Given the description of an element on the screen output the (x, y) to click on. 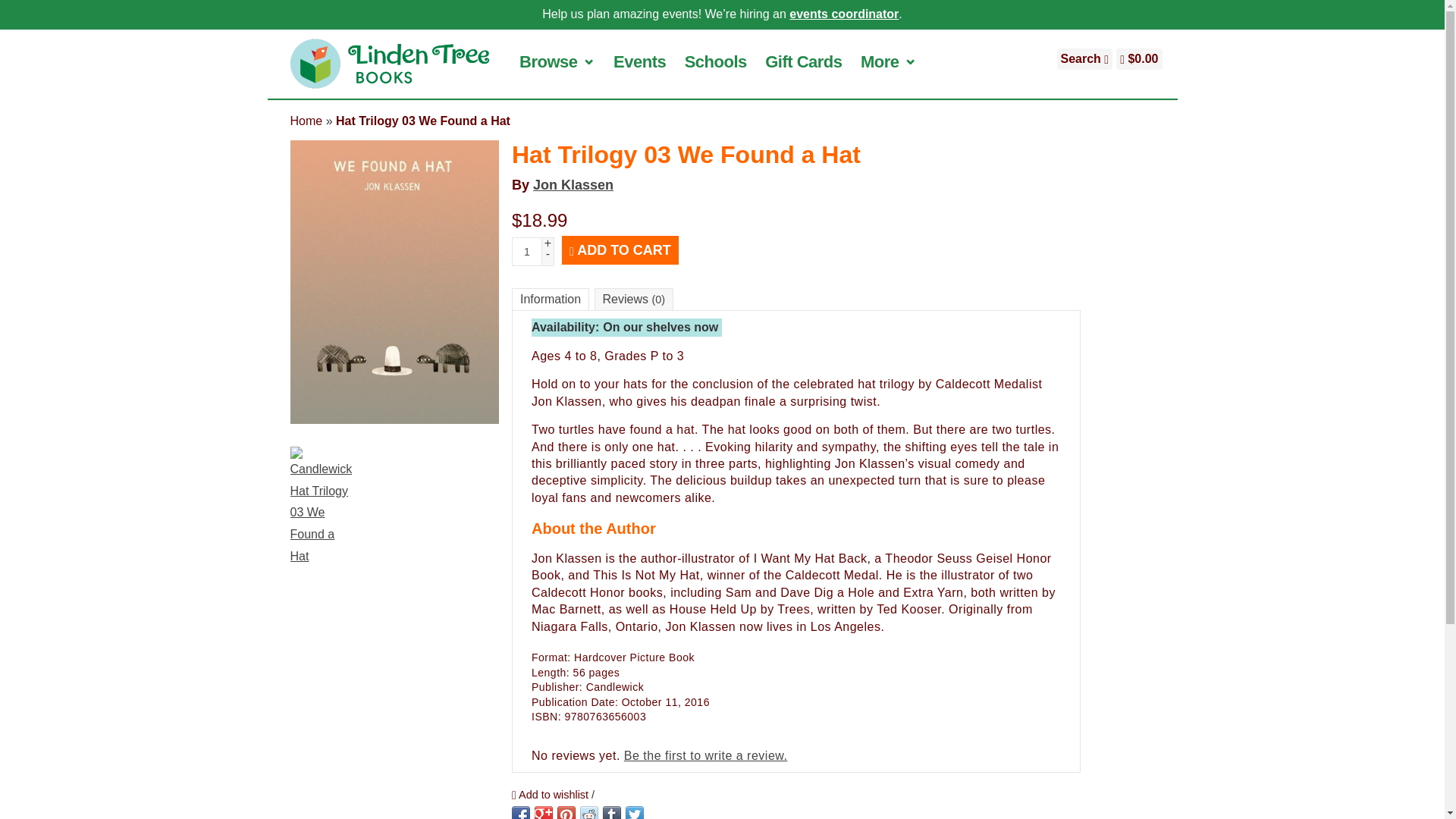
Events (638, 61)
Add to wishlist (551, 794)
Search for more titles by this author (572, 184)
Hat Trilogy 03 We Found a Hat (423, 120)
Share on Twitter (634, 812)
Hat Trilogy 03 We Found a Hat (423, 120)
Share on Tumblr (611, 812)
Home (305, 120)
1 (526, 251)
Be the first to write a review. (705, 755)
